Given the description of an element on the screen output the (x, y) to click on. 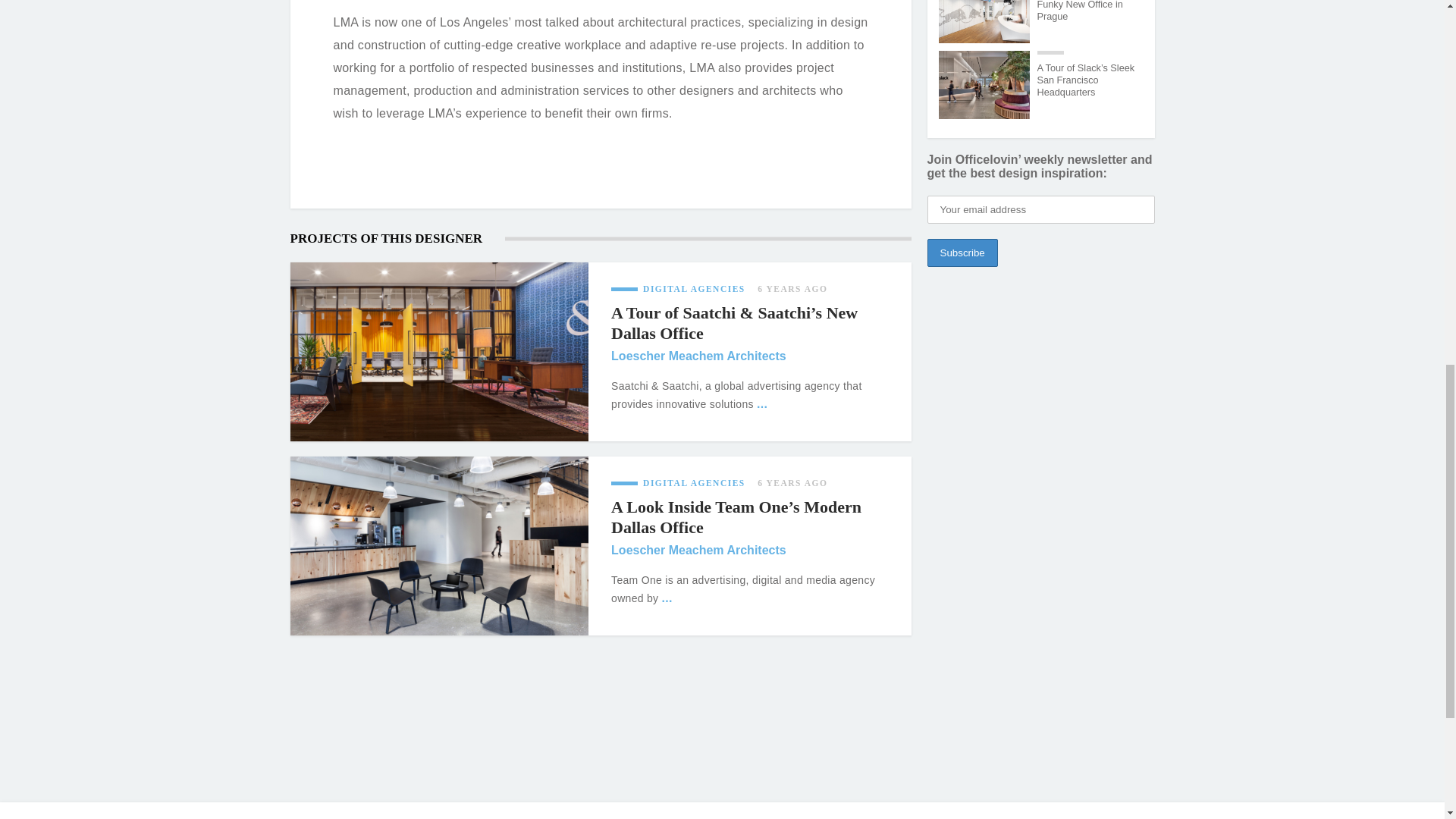
Subscribe (961, 252)
